Given the description of an element on the screen output the (x, y) to click on. 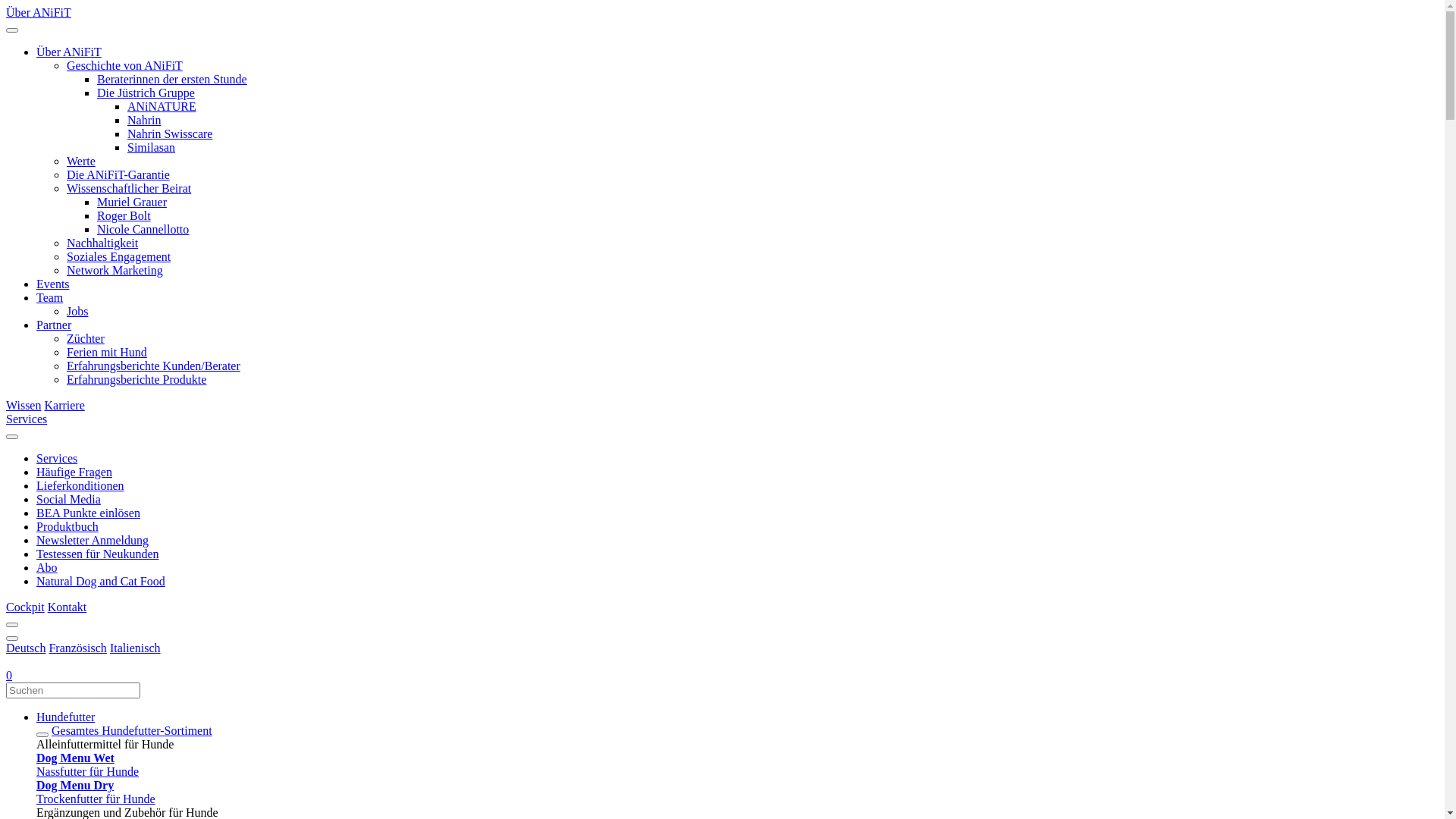
Wissenschaftlicher Beirat Element type: text (128, 188)
Beraterinnen der ersten Stunde Element type: text (172, 78)
Geschichte von ANiFiT Element type: text (124, 65)
Ferien mit Hund Element type: text (106, 351)
Partner Element type: text (53, 324)
Lieferkonditionen Element type: text (80, 485)
Social Media Element type: text (68, 498)
Kontakt Element type: text (67, 606)
Nachhaltigkeit Element type: text (102, 242)
Team Element type: text (49, 297)
Deutsch Element type: text (25, 647)
Wissen Element type: text (23, 404)
Abo Element type: text (46, 567)
Nahrin Element type: text (143, 119)
Natural Dog and Cat Food Element type: text (100, 580)
Services Element type: text (26, 418)
Services Element type: text (56, 457)
Soziales Engagement Element type: text (118, 256)
Gesamtes Hundefutter-Sortiment Element type: text (131, 730)
Werte Element type: text (80, 160)
Cockpit Element type: text (25, 606)
Karriere Element type: text (63, 404)
Erfahrungsberichte Kunden/Berater Element type: text (153, 365)
Hundefutter Element type: text (737, 717)
Newsletter Anmeldung Element type: text (92, 539)
Nahrin Swisscare Element type: text (169, 133)
Produktbuch Element type: text (67, 526)
Erfahrungsberichte Produkte Element type: text (136, 379)
Network Marketing Element type: text (114, 269)
Events Element type: text (52, 283)
0 Element type: text (9, 674)
Muriel Grauer Element type: text (131, 201)
Nicole Cannellotto Element type: text (142, 228)
ANiNATURE Element type: text (161, 106)
Jobs Element type: text (76, 310)
Similasan Element type: text (151, 147)
Roger Bolt Element type: text (123, 215)
Italienisch Element type: text (134, 647)
Die ANiFiT-Garantie Element type: text (117, 174)
